Given the description of an element on the screen output the (x, y) to click on. 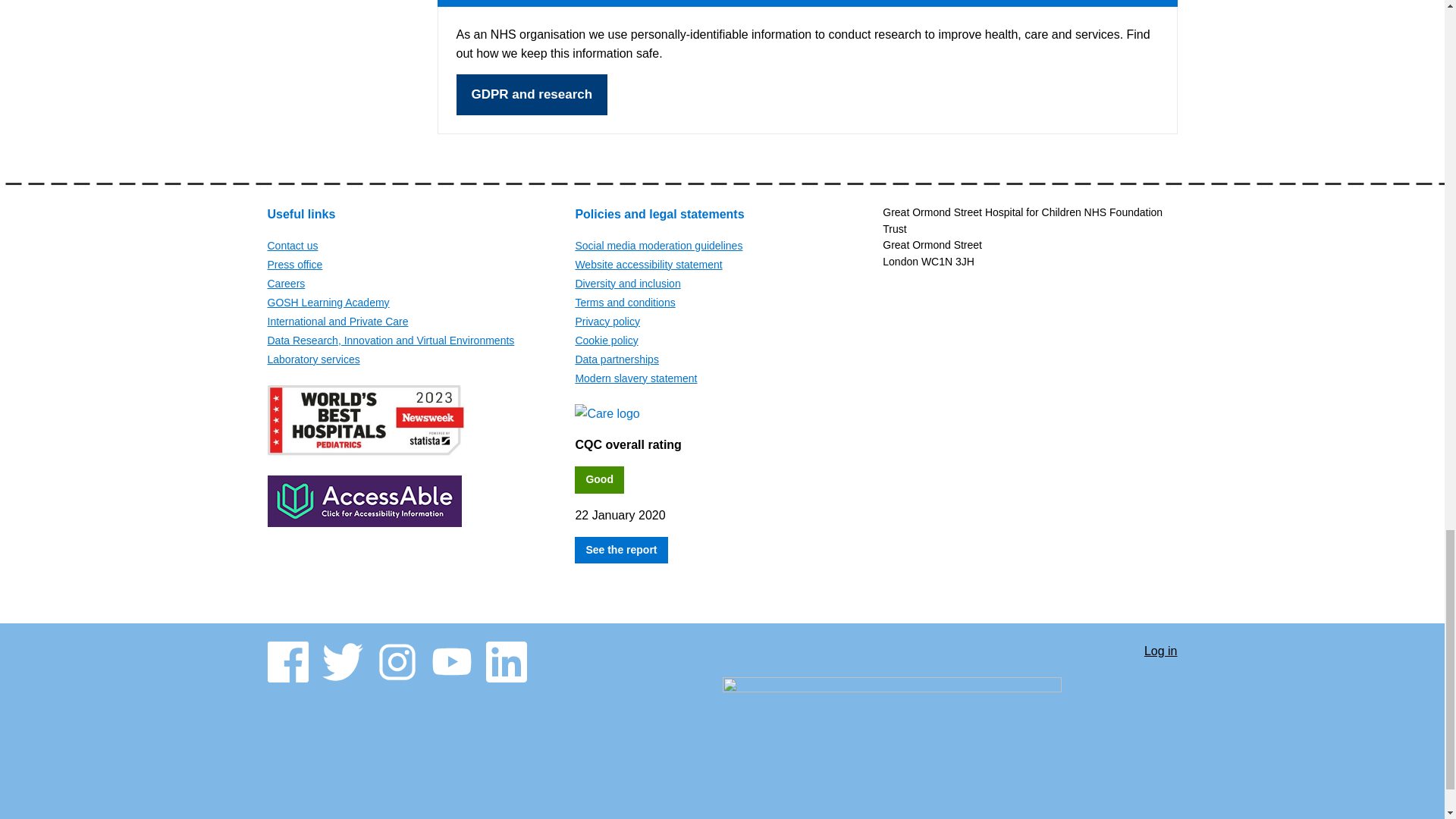
Follow us on Facebook (286, 661)
Follow us on Linkedin (504, 661)
Follow us on Twitter (341, 661)
Follow us on Youtube (450, 661)
Follow us on Instagram (395, 661)
